Given the description of an element on the screen output the (x, y) to click on. 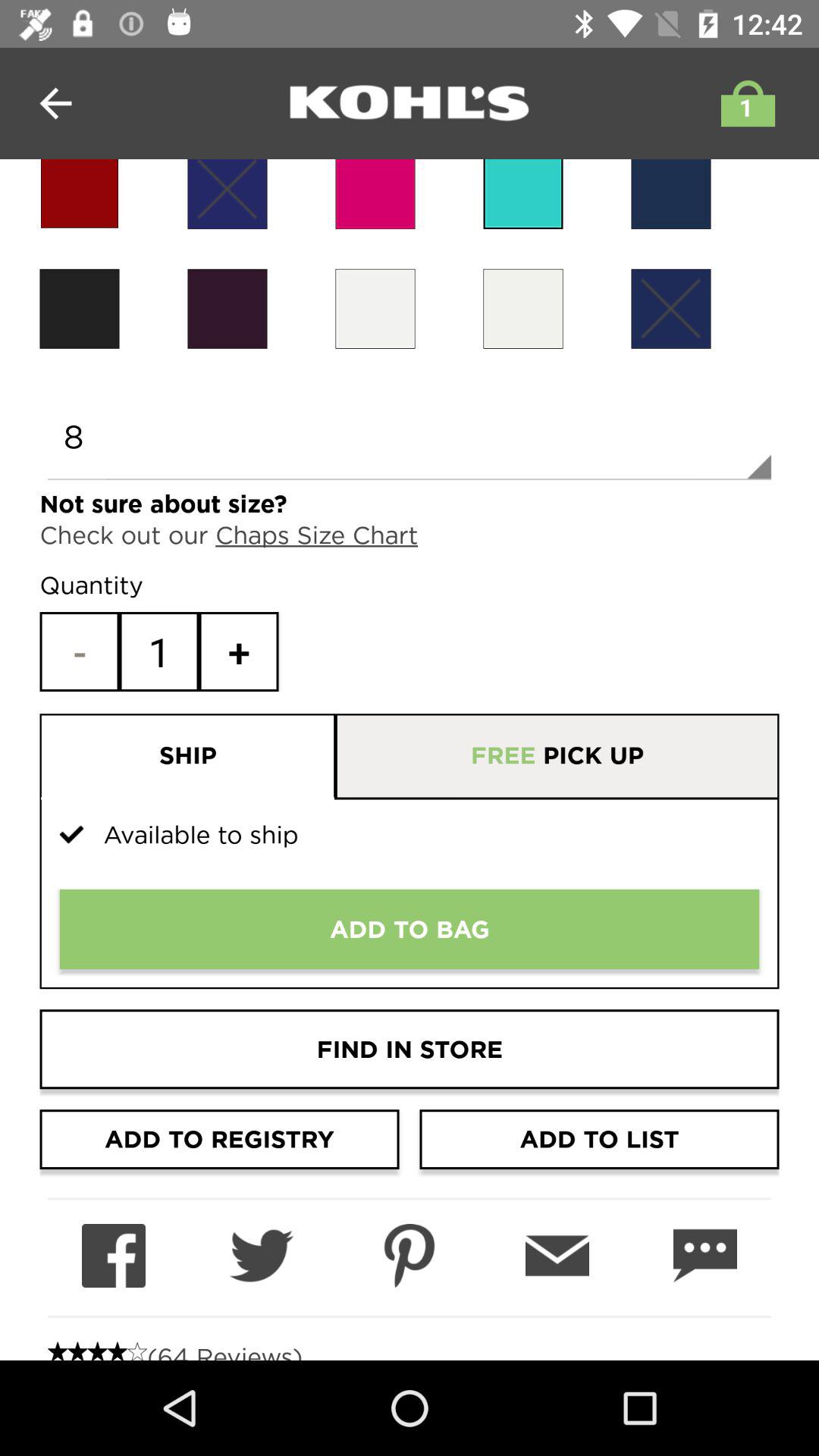
share to twitter (261, 1255)
